Given the description of an element on the screen output the (x, y) to click on. 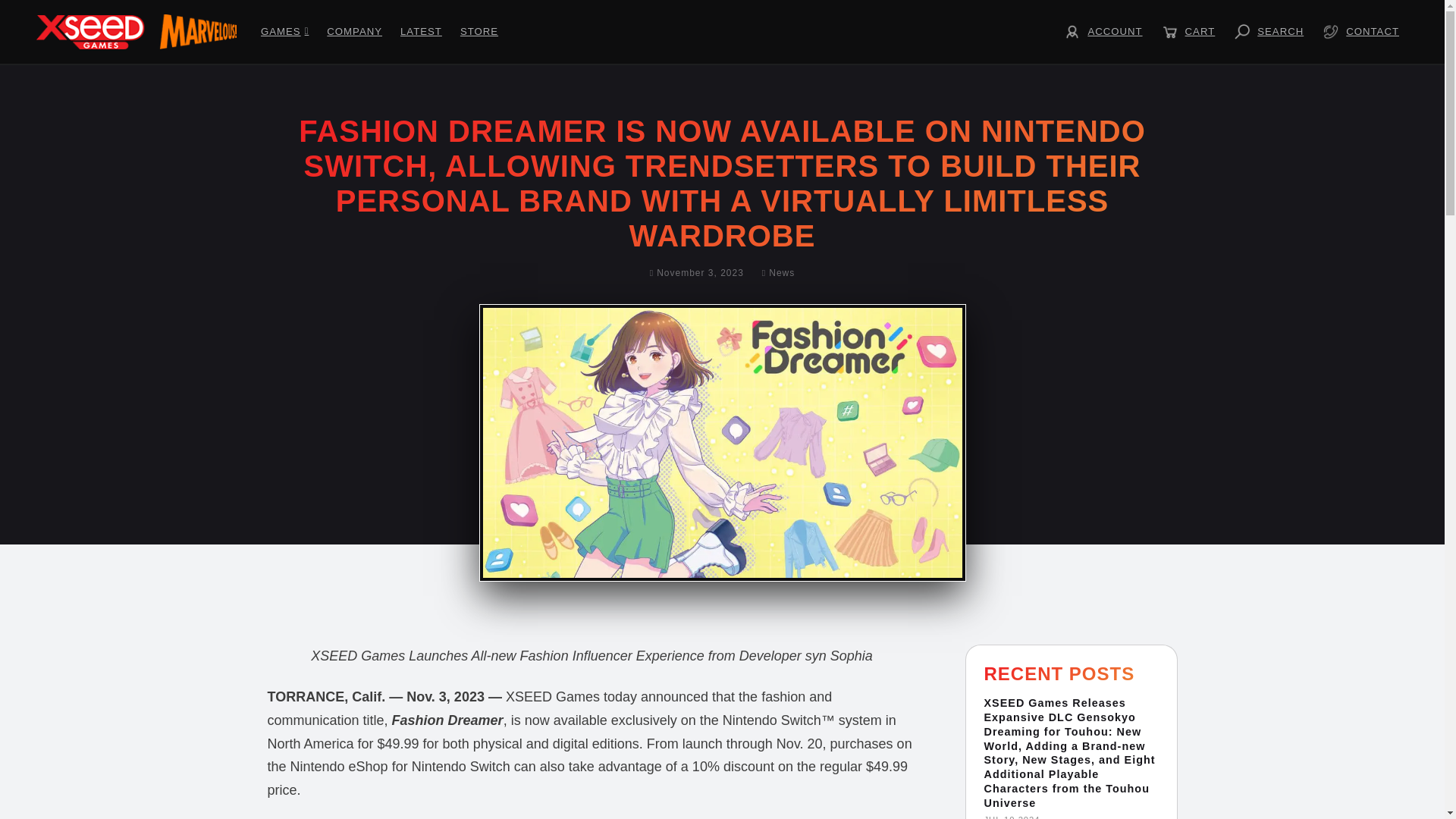
GAMES (284, 31)
